Given the description of an element on the screen output the (x, y) to click on. 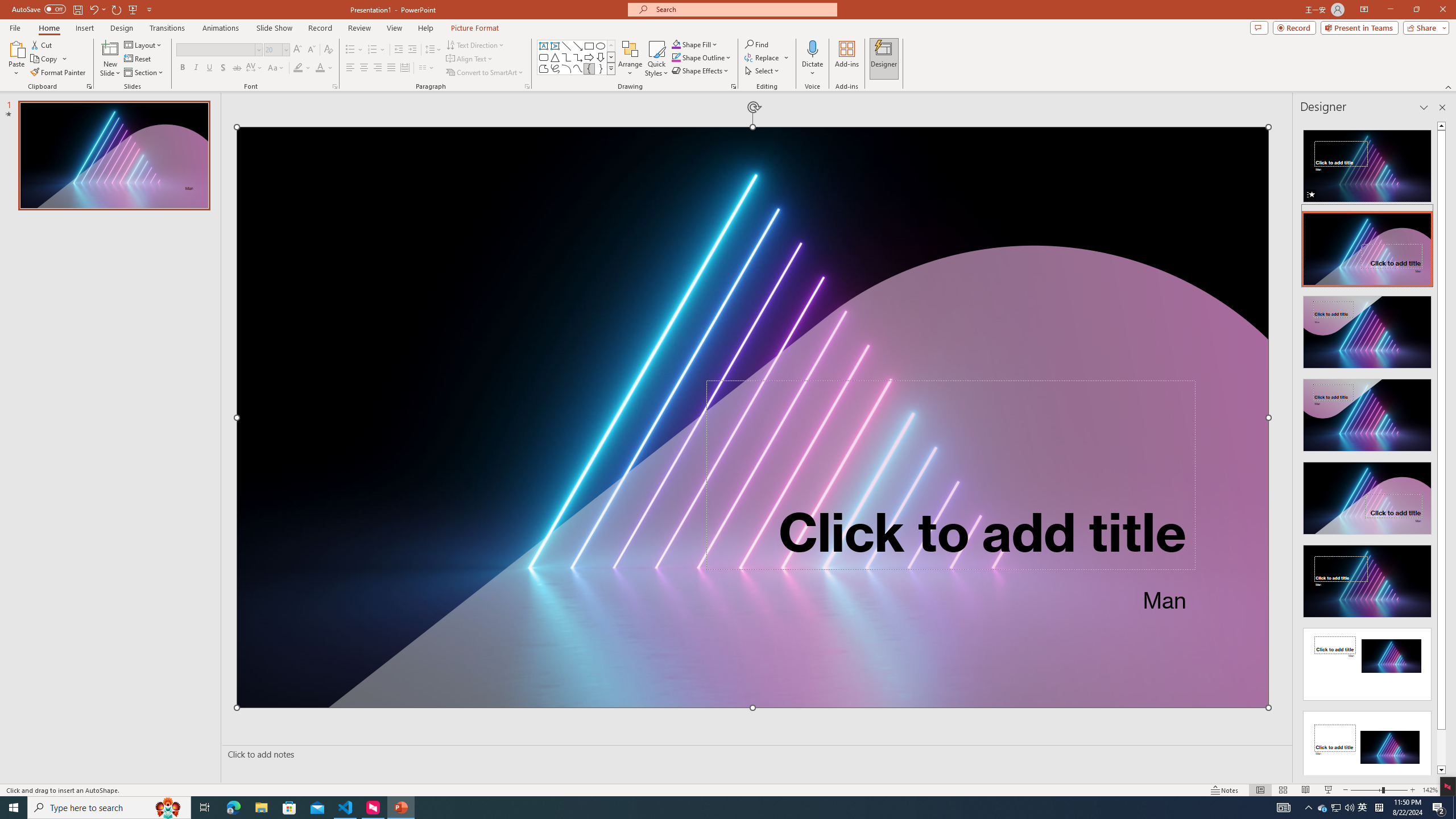
Class: NetUIScrollBar (1441, 447)
